Given the description of an element on the screen output the (x, y) to click on. 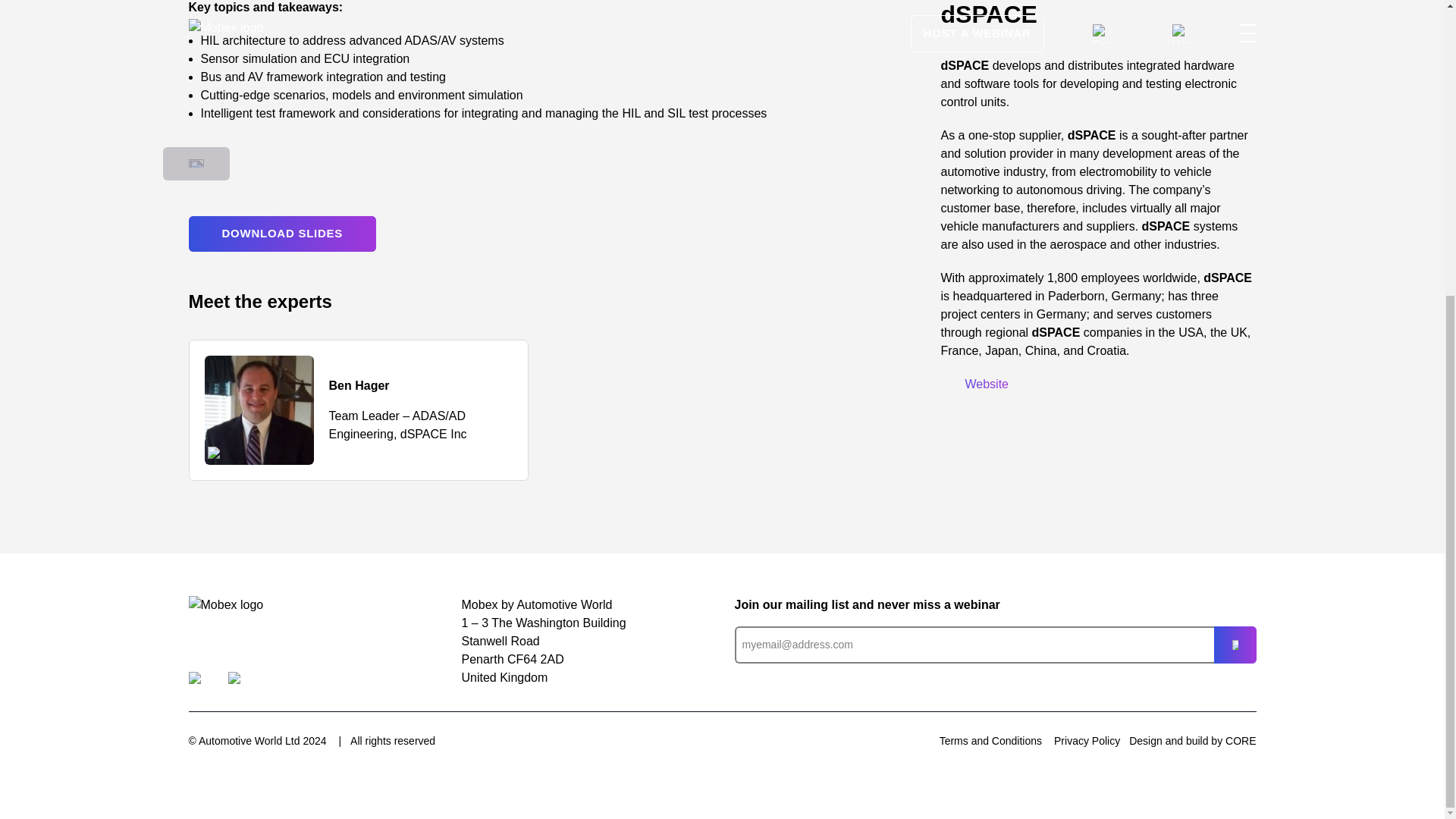
Privacy Policy (1086, 740)
Website (974, 383)
Design and build by CORE (1192, 741)
SIGN ME UP (1233, 643)
Terms and Conditions (990, 740)
DOWNLOAD SLIDES (281, 233)
